Given the description of an element on the screen output the (x, y) to click on. 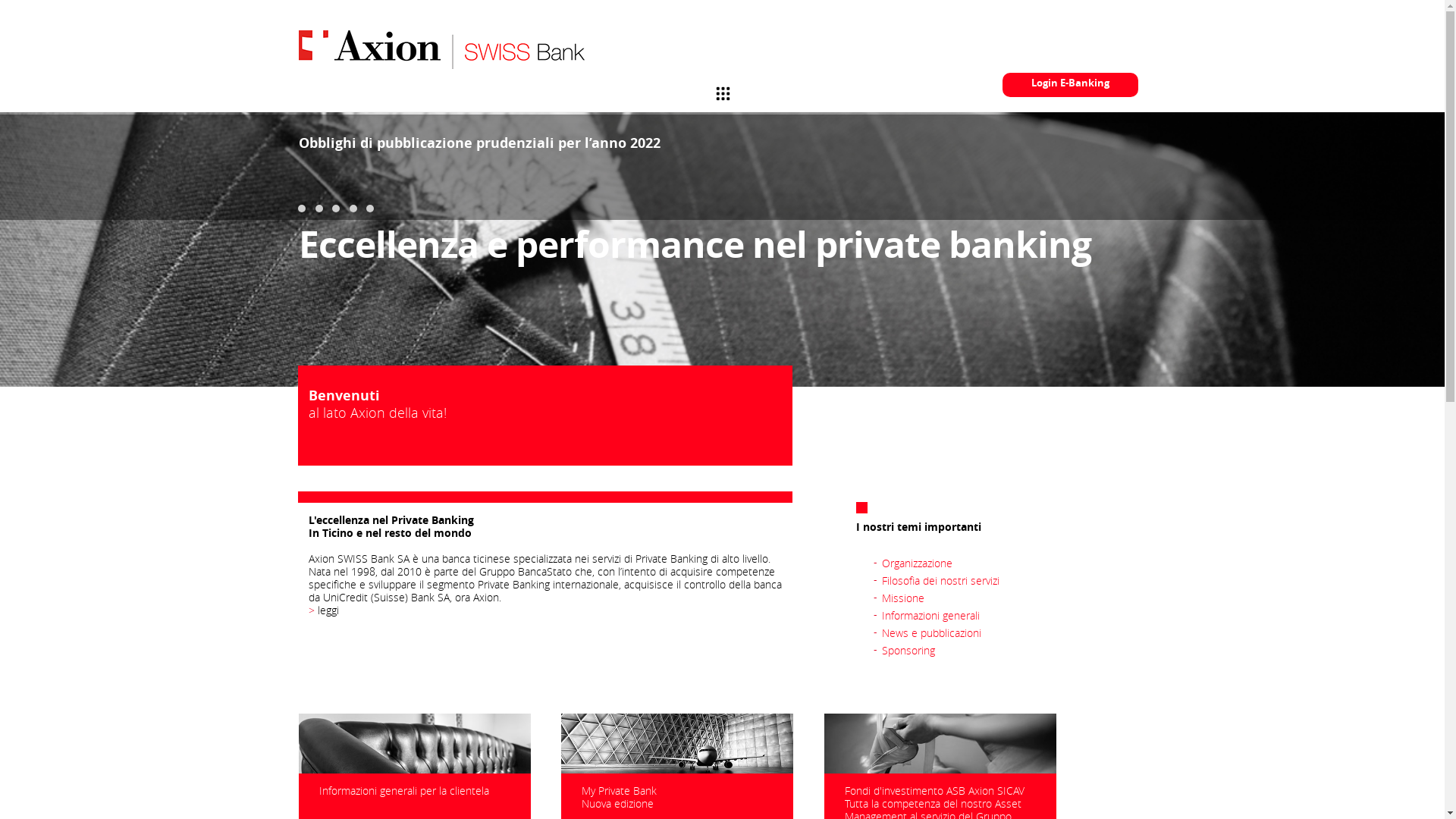
Filosofia dei nostri servizi Element type: text (940, 580)
Login E-Banking Element type: text (1070, 84)
Organizzazione Element type: text (916, 562)
News e pubblicazioni Element type: text (931, 632)
leggi Element type: text (327, 609)
Missione Element type: text (902, 597)
Informazioni generali Element type: text (930, 614)
Sponsoring Element type: text (908, 649)
